Given the description of an element on the screen output the (x, y) to click on. 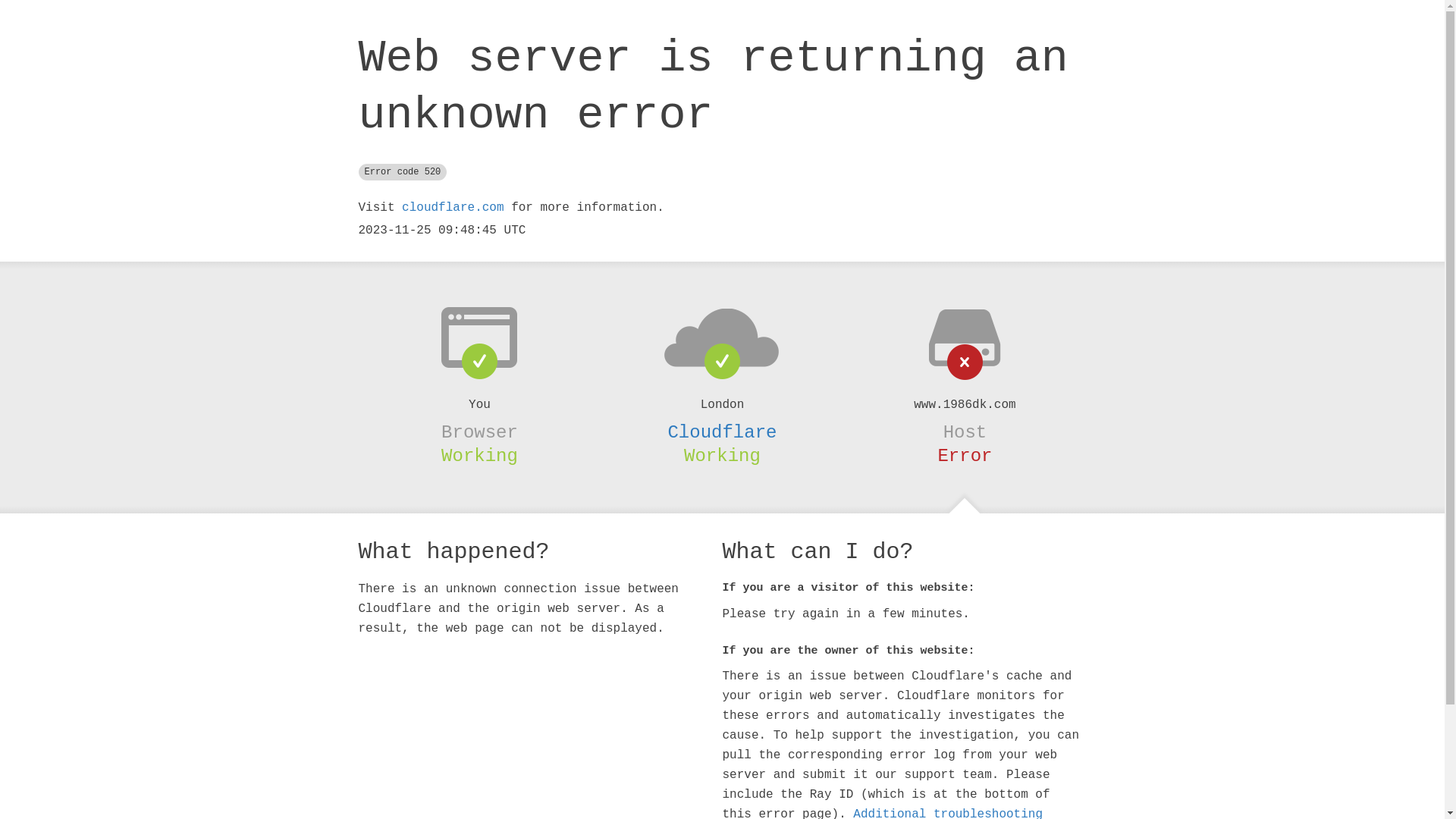
cloudflare.com Element type: text (452, 207)
Cloudflare Element type: text (721, 432)
